Given the description of an element on the screen output the (x, y) to click on. 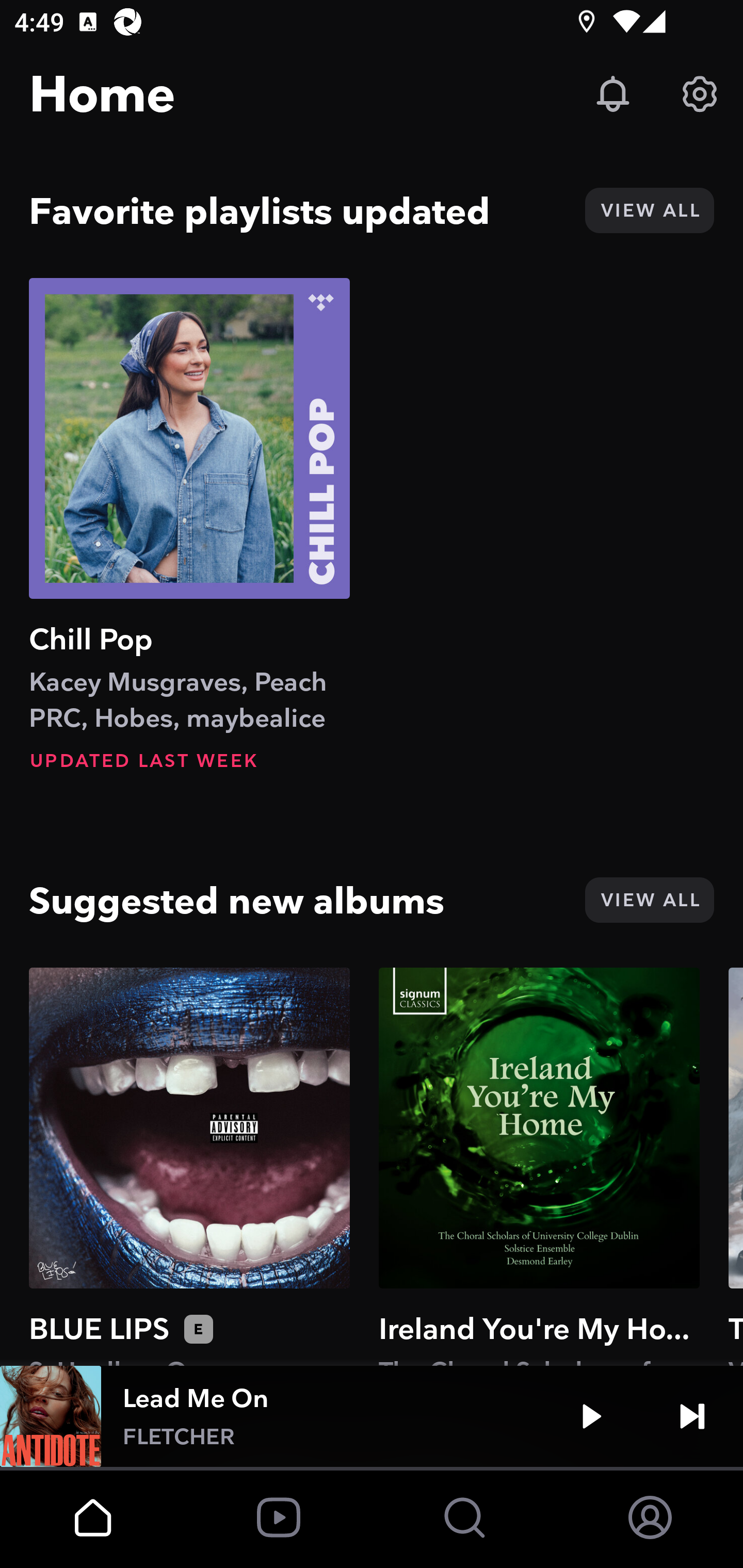
Updates (612, 93)
Settings (699, 93)
VIEW ALL (649, 210)
VIEW ALL (649, 899)
BLUE LIPS ScHoolboy Q (188, 1166)
Lead Me On FLETCHER Play (371, 1416)
Play (590, 1416)
